Given the description of an element on the screen output the (x, y) to click on. 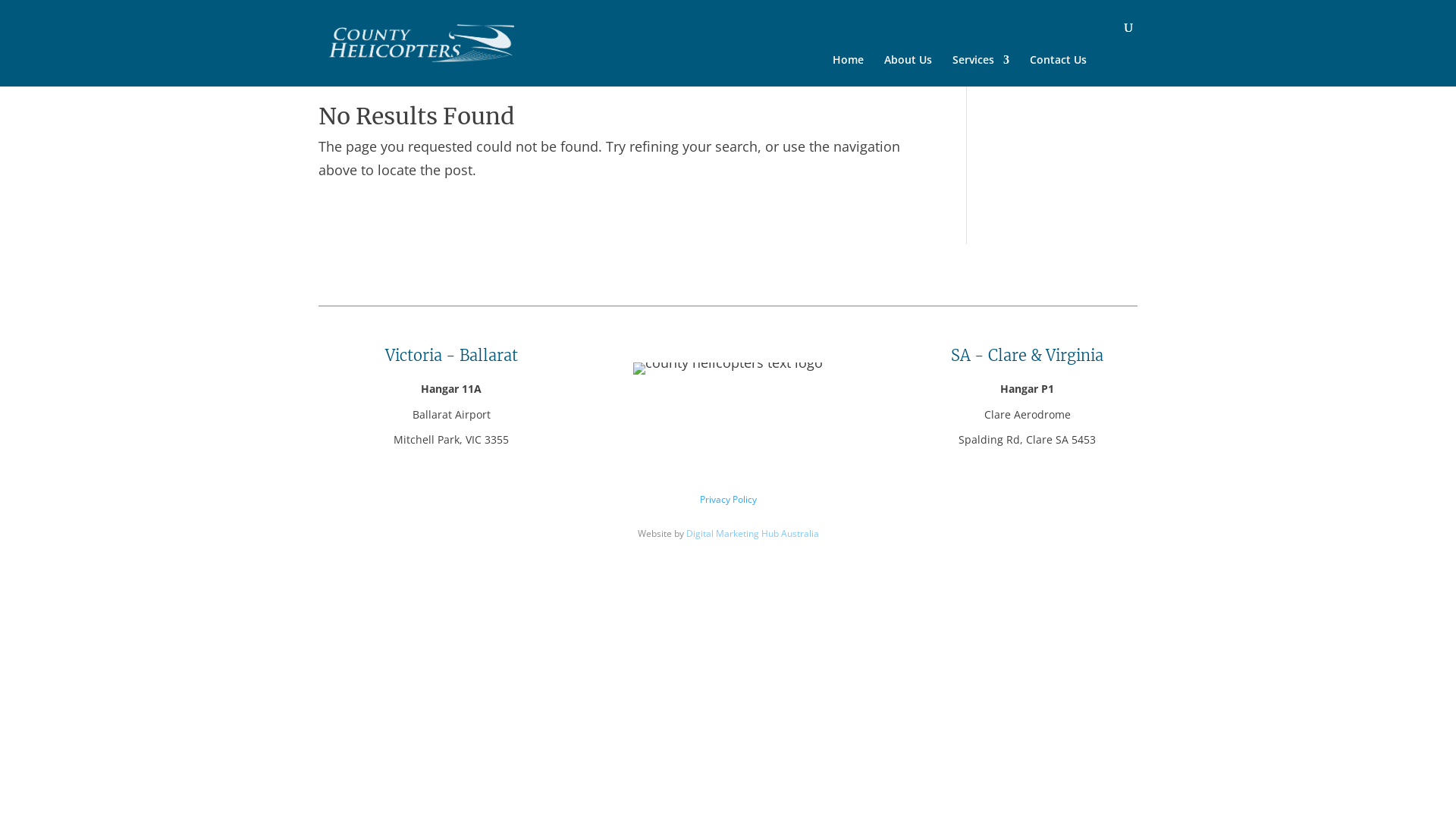
Home Element type: text (847, 70)
Digital Marketing Hub Australia Element type: text (751, 533)
Services Element type: text (980, 70)
Contact Us Element type: text (1057, 70)
Privacy Policy Element type: text (727, 498)
About Us Element type: text (907, 70)
county helicopters-logo Element type: hover (727, 368)
